Given the description of an element on the screen output the (x, y) to click on. 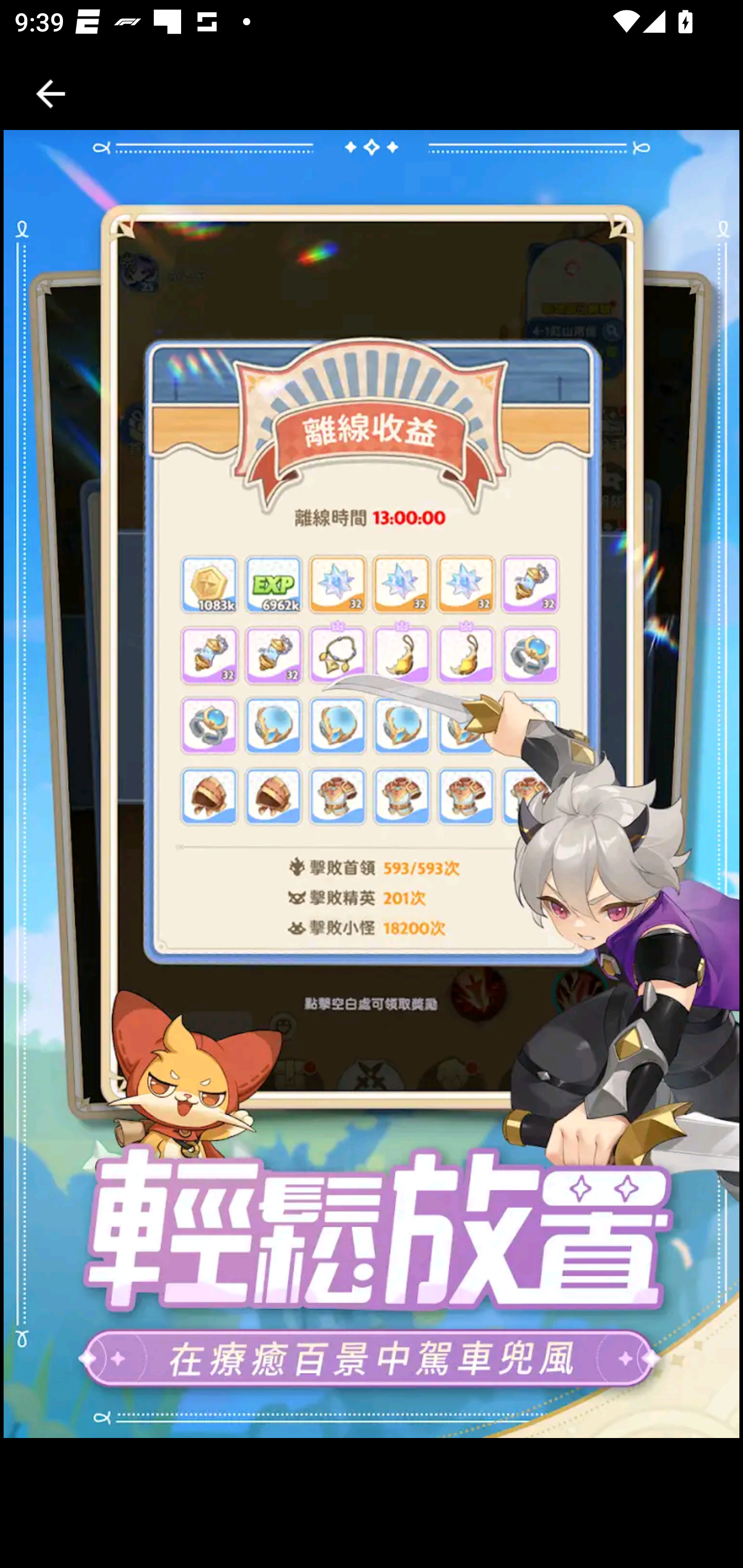
Back (50, 93)
